Given the description of an element on the screen output the (x, y) to click on. 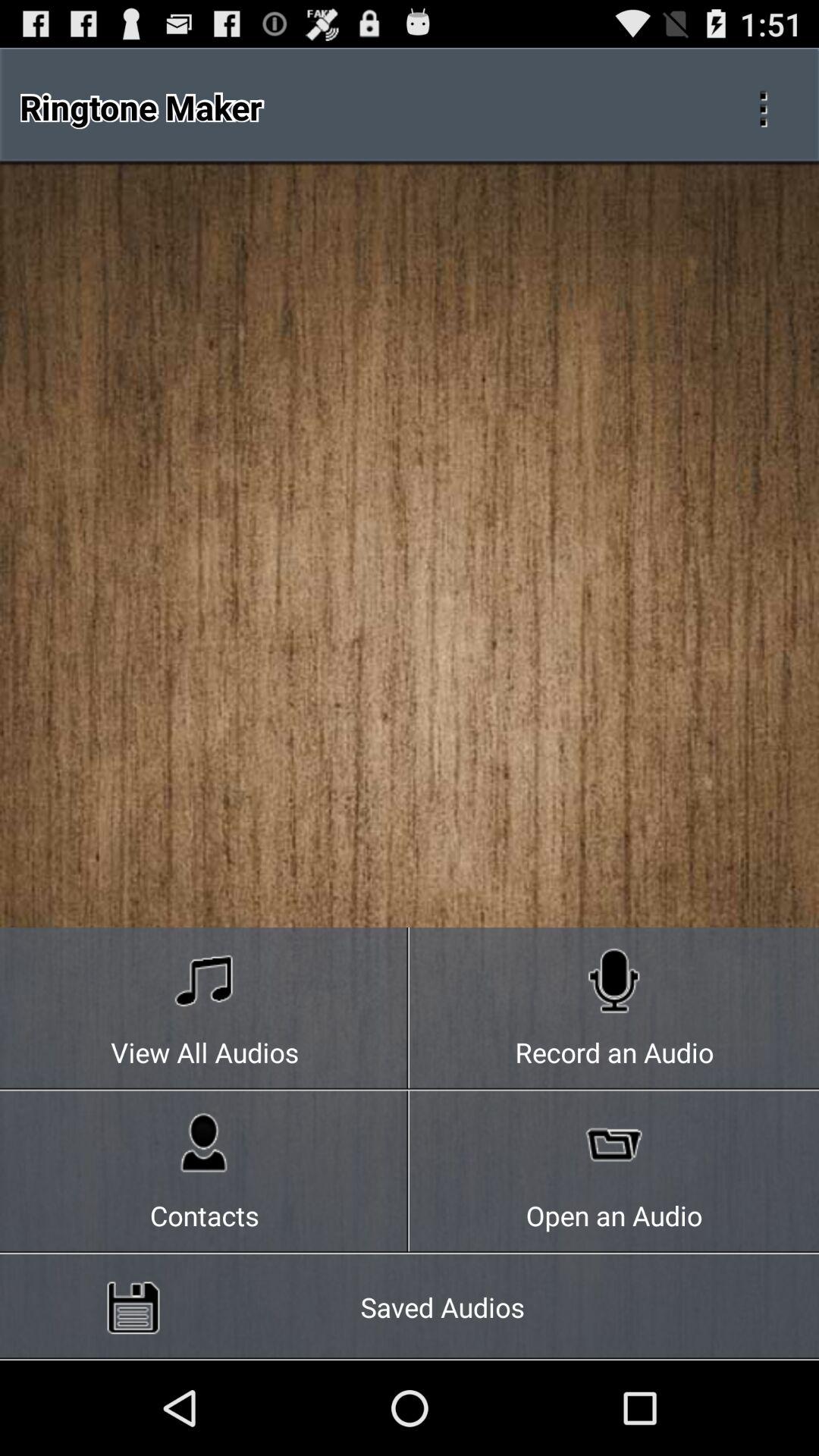
select the item to the right of ringtone maker (762, 107)
